Given the description of an element on the screen output the (x, y) to click on. 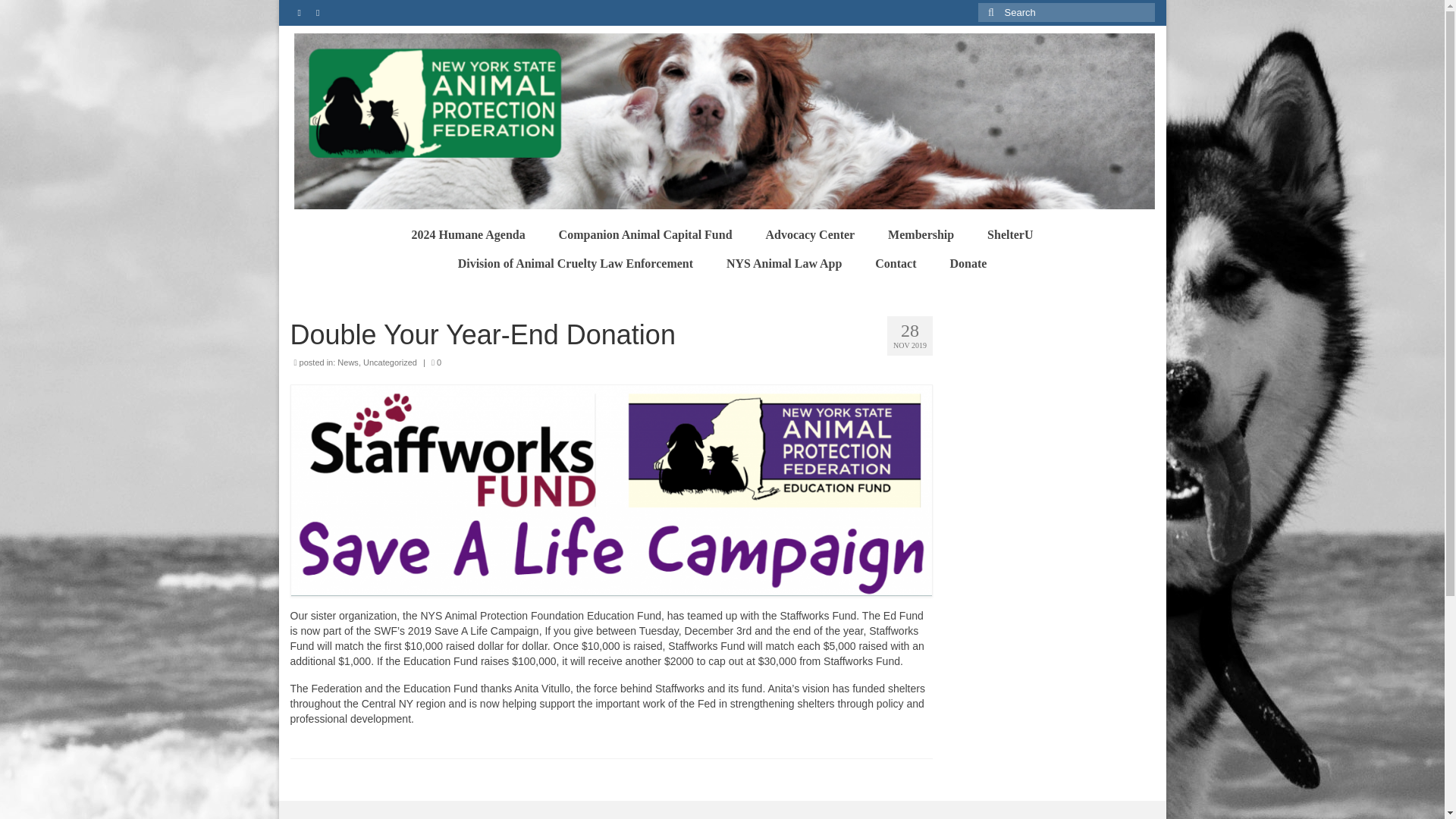
Contact (895, 263)
News (347, 361)
Donate (967, 263)
Companion Animal Capital Fund (645, 234)
2024 Humane Agenda (468, 234)
Uncategorized (389, 361)
NYS Animal Law App (784, 263)
Division of Animal Cruelty Law Enforcement (574, 263)
ShelterU (1010, 234)
Membership (920, 234)
Advocacy Center (809, 234)
